Given the description of an element on the screen output the (x, y) to click on. 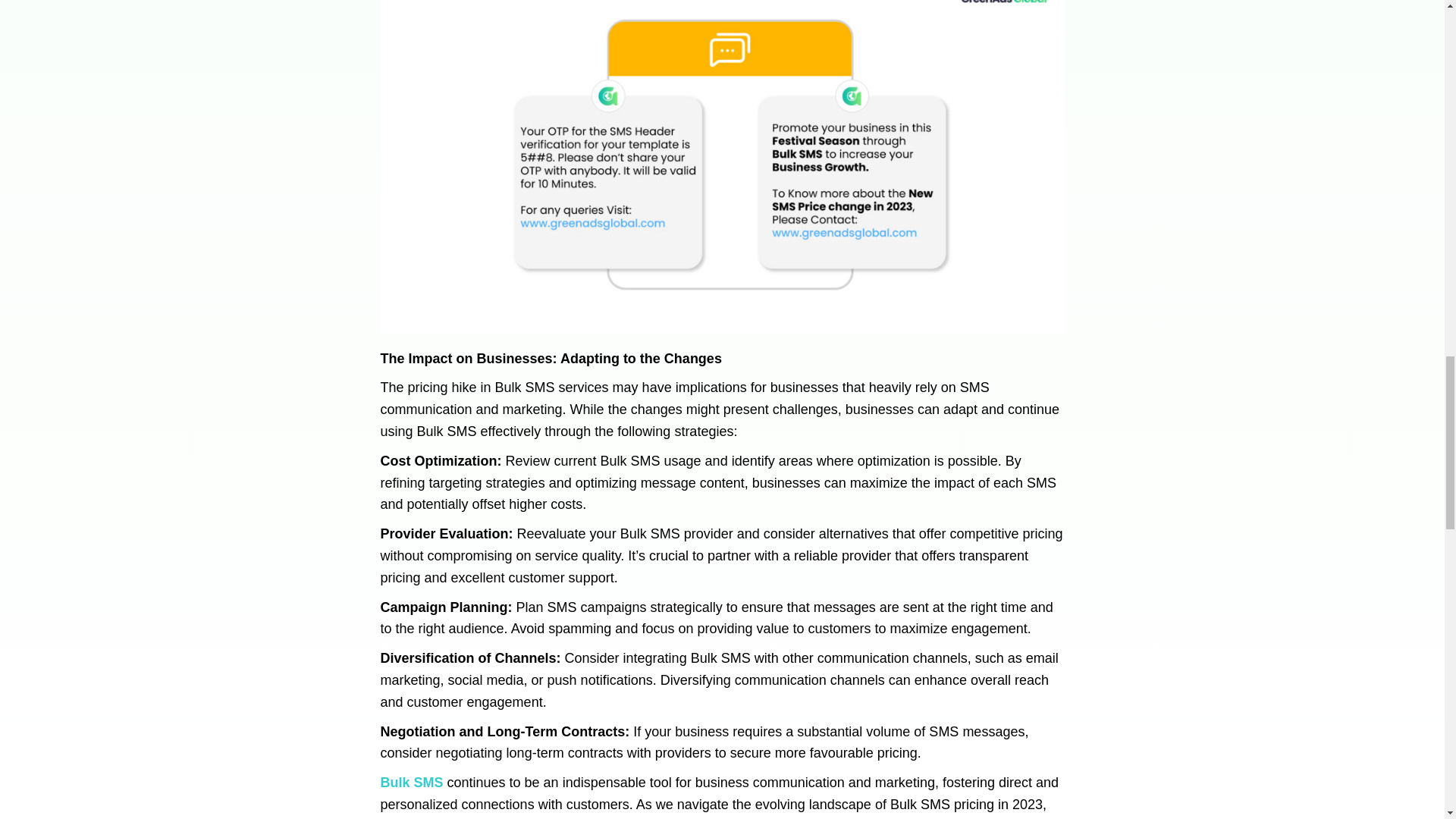
Bulk SMS (412, 782)
